Given the description of an element on the screen output the (x, y) to click on. 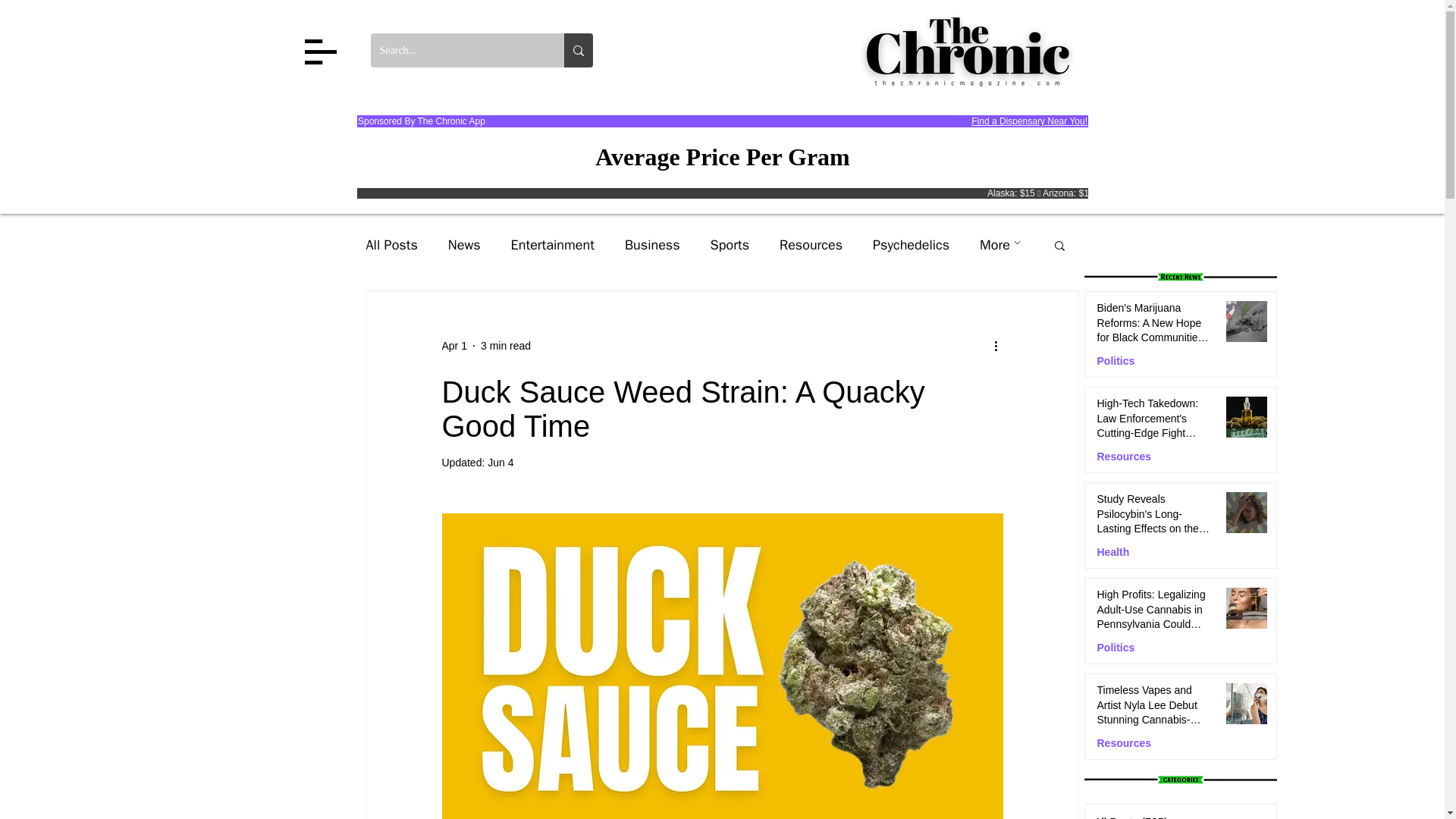
Politics (1115, 647)
3 min read (505, 345)
Health (1112, 552)
News (464, 244)
Politics (1115, 360)
Sports (729, 244)
Psychedelics (910, 244)
Price Per Gram of Cannabis By State (721, 158)
Apr 1 (453, 345)
Jun 4 (500, 462)
